Given the description of an element on the screen output the (x, y) to click on. 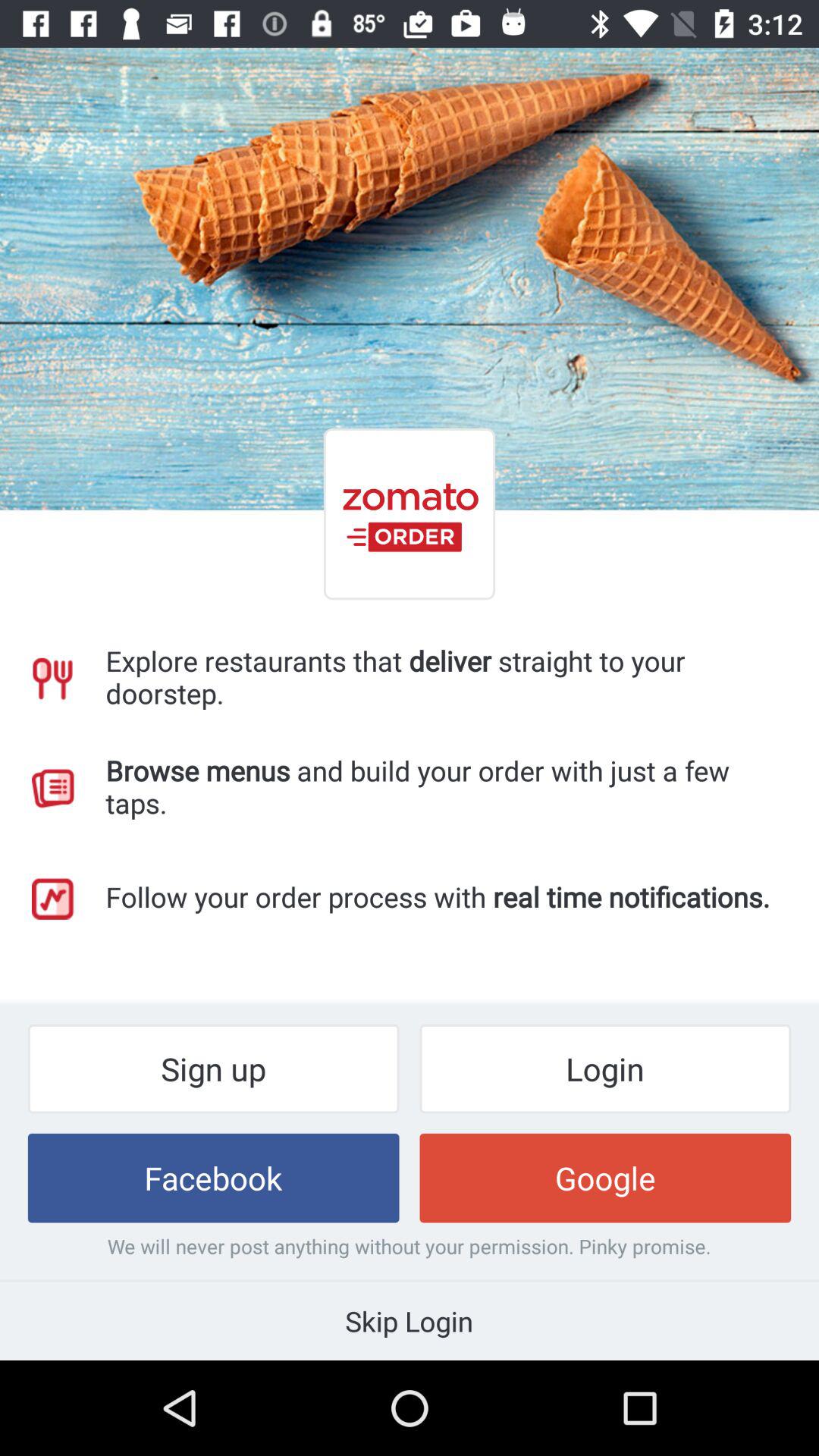
turn off the icon below login item (605, 1177)
